Given the description of an element on the screen output the (x, y) to click on. 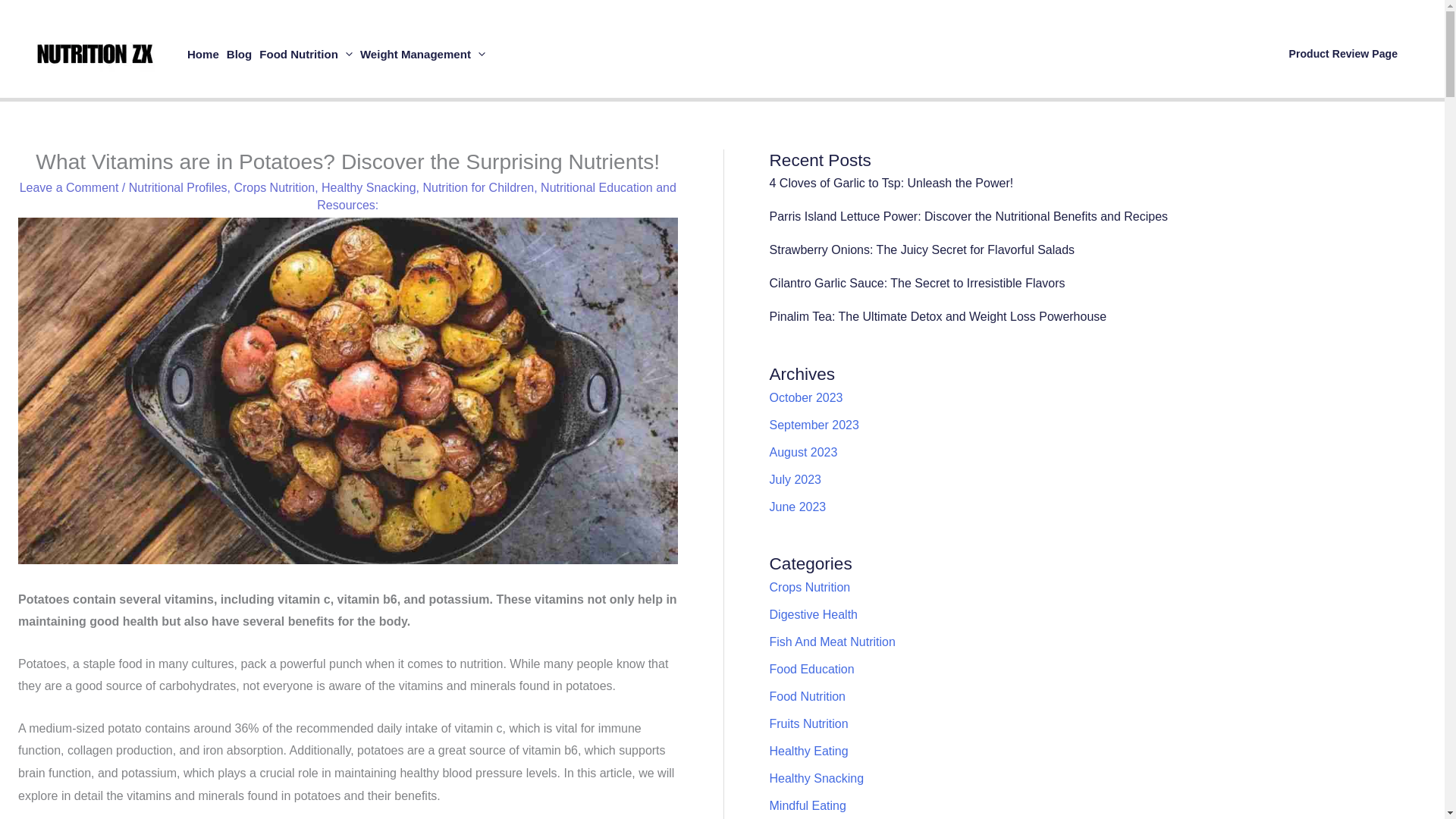
Food Nutrition (306, 53)
Weight Management (422, 53)
Nutritional Profiles (178, 187)
Leave a Comment (69, 187)
Product Review Page (1343, 53)
